Given the description of an element on the screen output the (x, y) to click on. 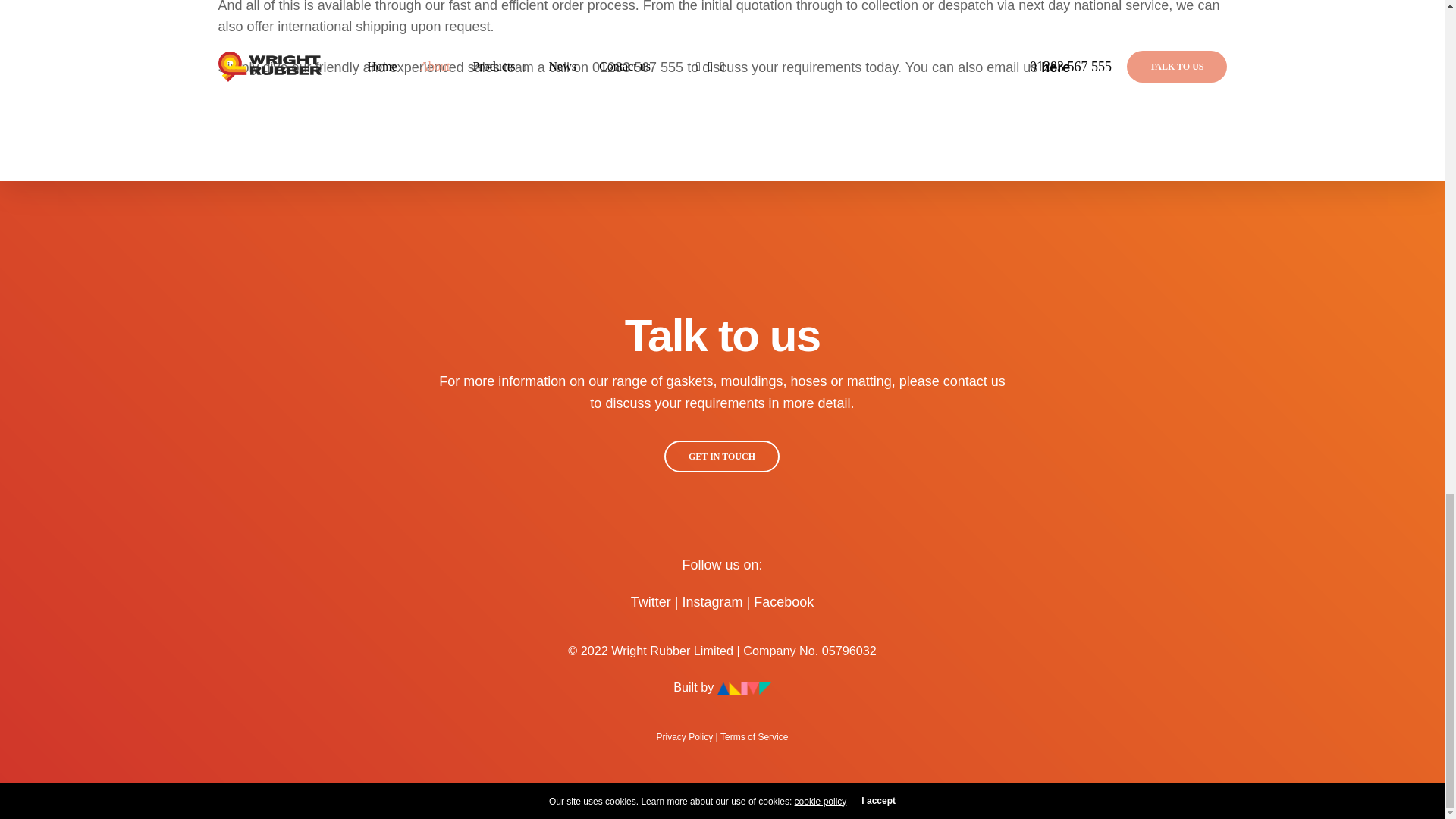
here (1055, 67)
